Given the description of an element on the screen output the (x, y) to click on. 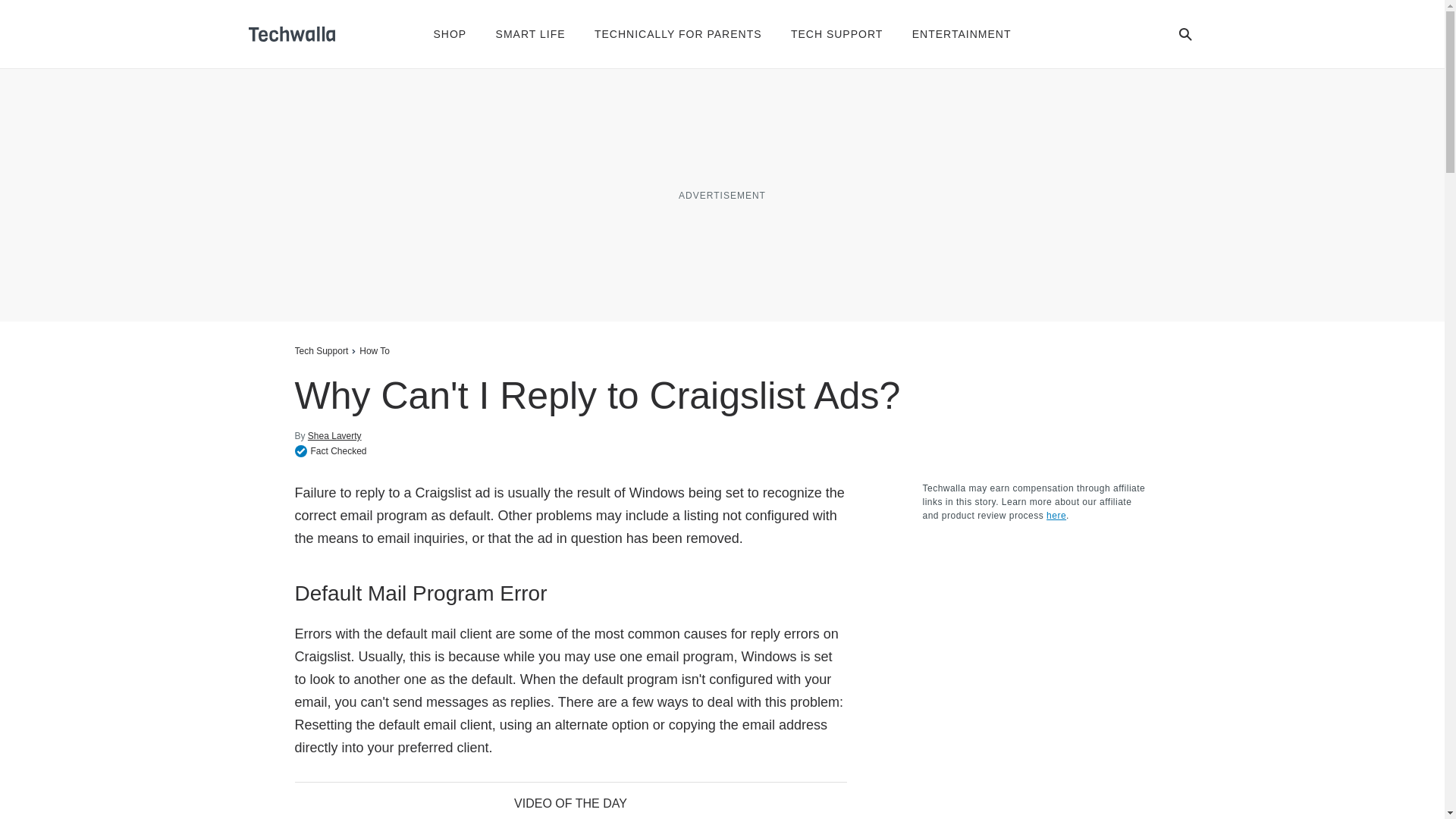
Shea Laverty (334, 435)
How To (374, 350)
Tech Support (320, 350)
Learn more about our affiliate and product review process (1055, 515)
Fact Checked (330, 450)
